Given the description of an element on the screen output the (x, y) to click on. 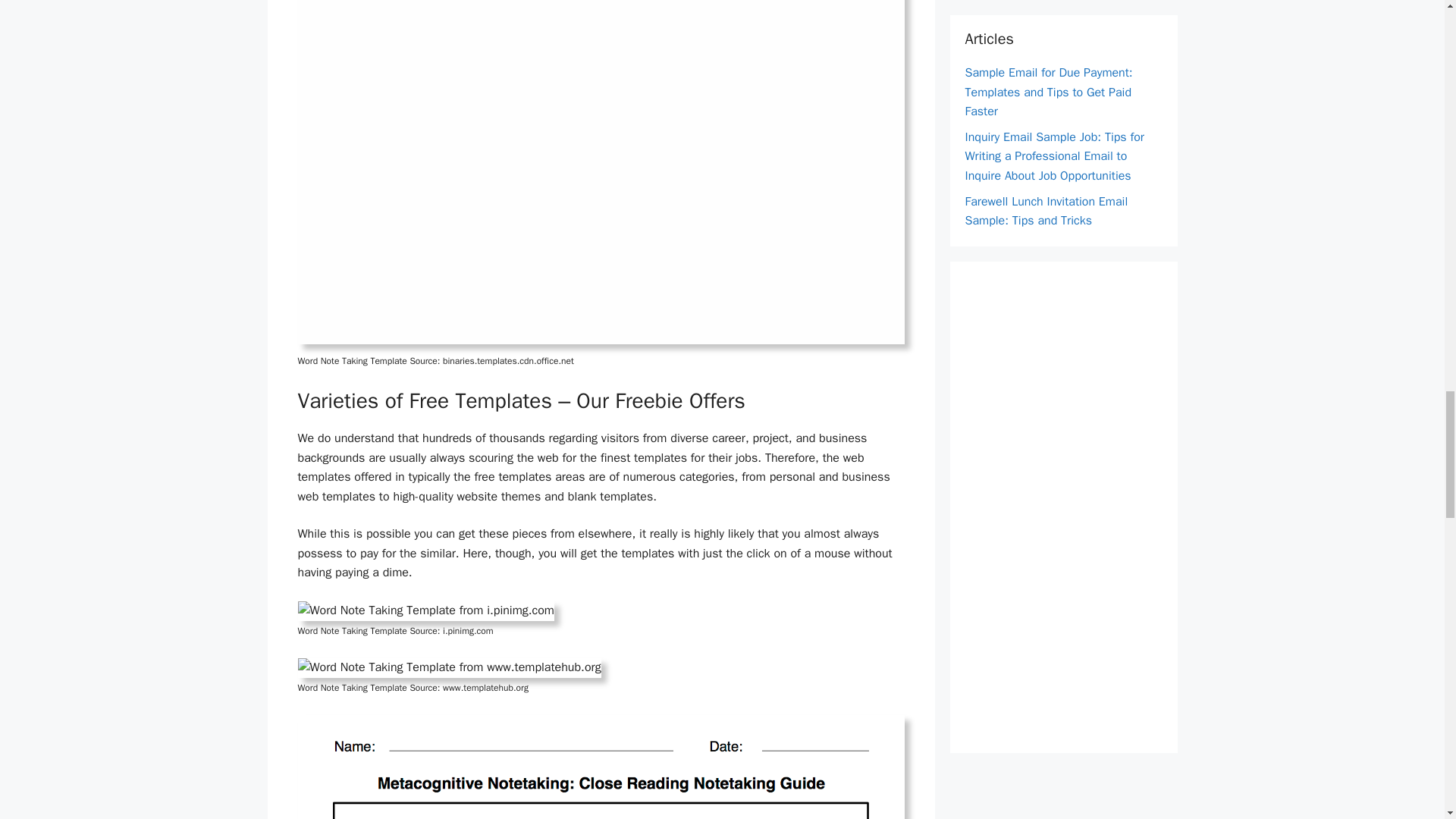
Word Note Taking Template Collection 4 (425, 610)
Word Note Taking Template Collection 5 (448, 668)
Word Note Taking Template Collection 6 (600, 766)
